Given the description of an element on the screen output the (x, y) to click on. 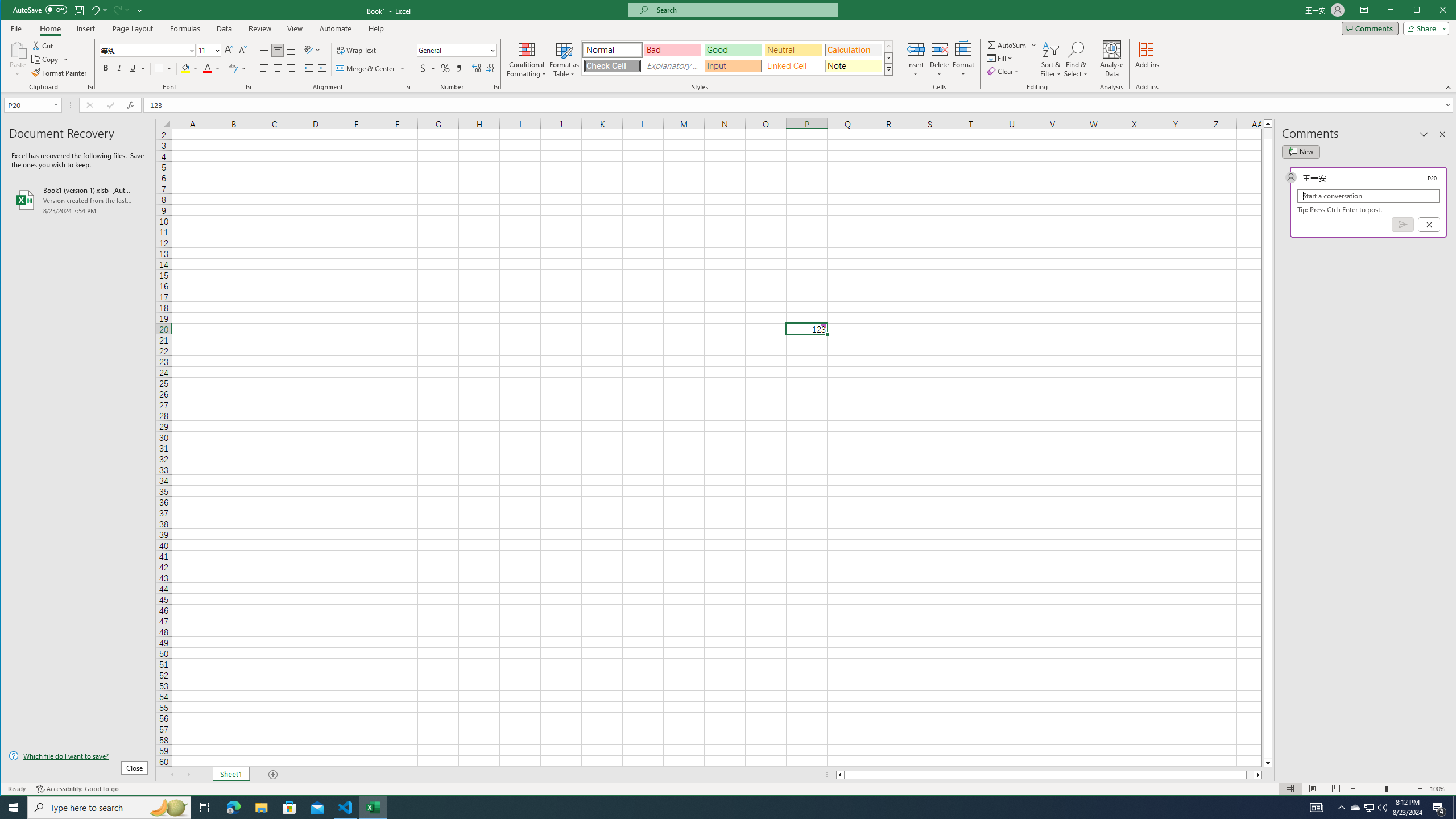
Font Size (208, 49)
Linked Cell (793, 65)
Visual Studio Code - 1 running window (345, 807)
Start a conversation (1368, 195)
Row Down (887, 57)
Sort & Filter (1050, 59)
Bold (105, 68)
Fill Color RGB(255, 255, 0) (185, 68)
Format Cell Alignment (407, 86)
